Given the description of an element on the screen output the (x, y) to click on. 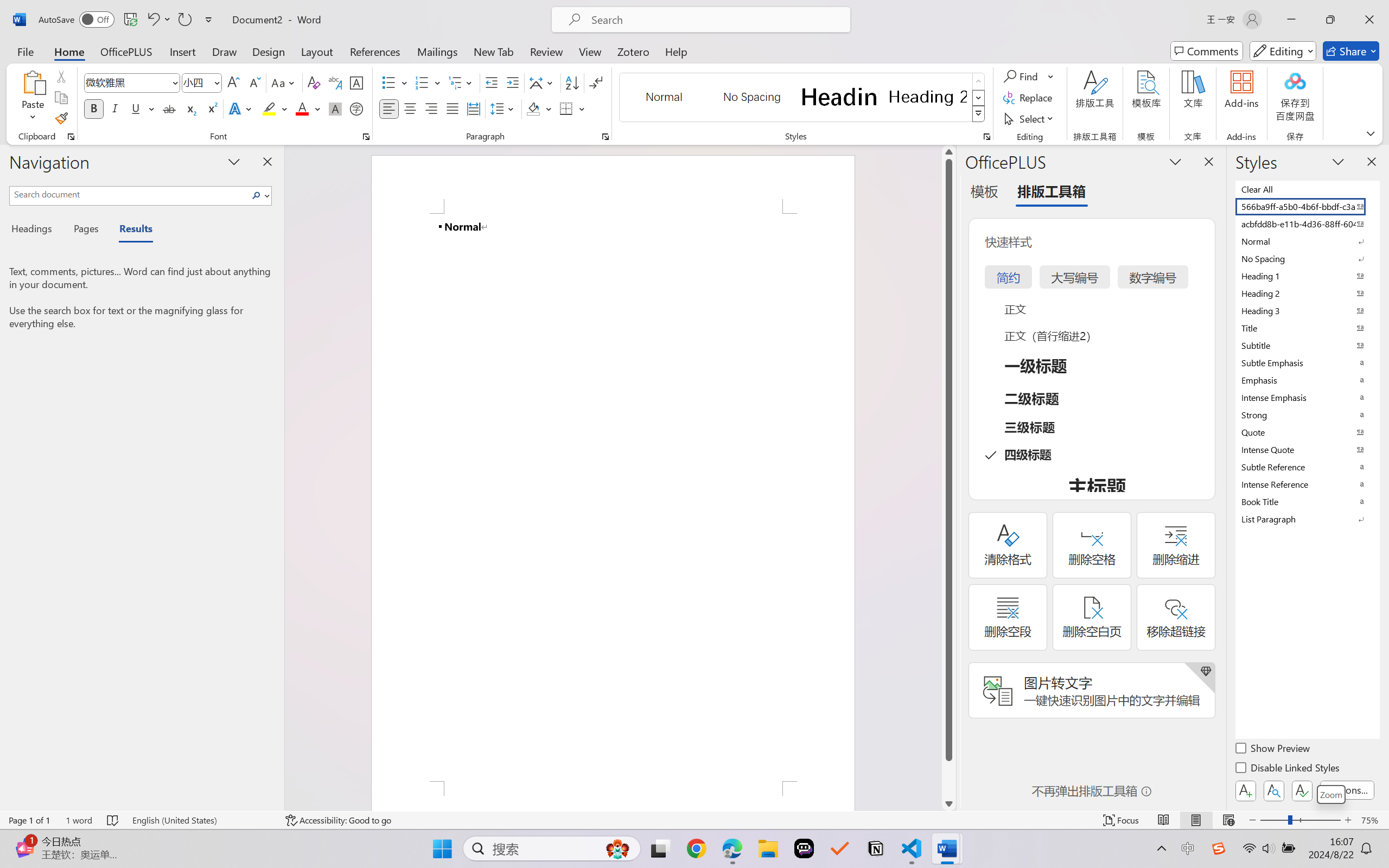
Intense Emphasis (1306, 397)
Align Left (388, 108)
Align Right (431, 108)
Character Shading (334, 108)
Distributed (473, 108)
Increase Indent (512, 82)
Zotero (632, 51)
Styles (978, 113)
Italic (115, 108)
